Given the description of an element on the screen output the (x, y) to click on. 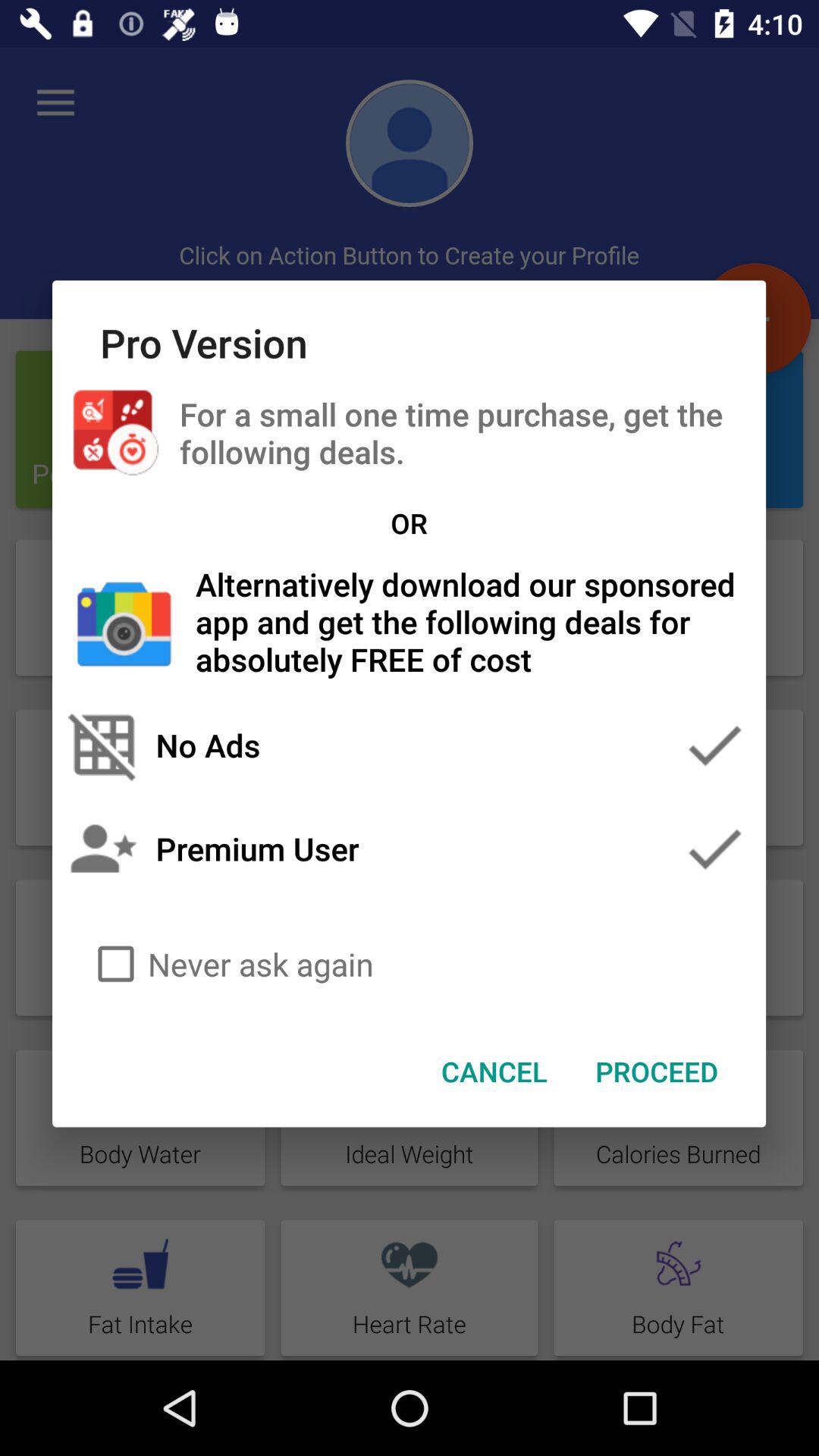
launch item below never ask again item (656, 1071)
